Given the description of an element on the screen output the (x, y) to click on. 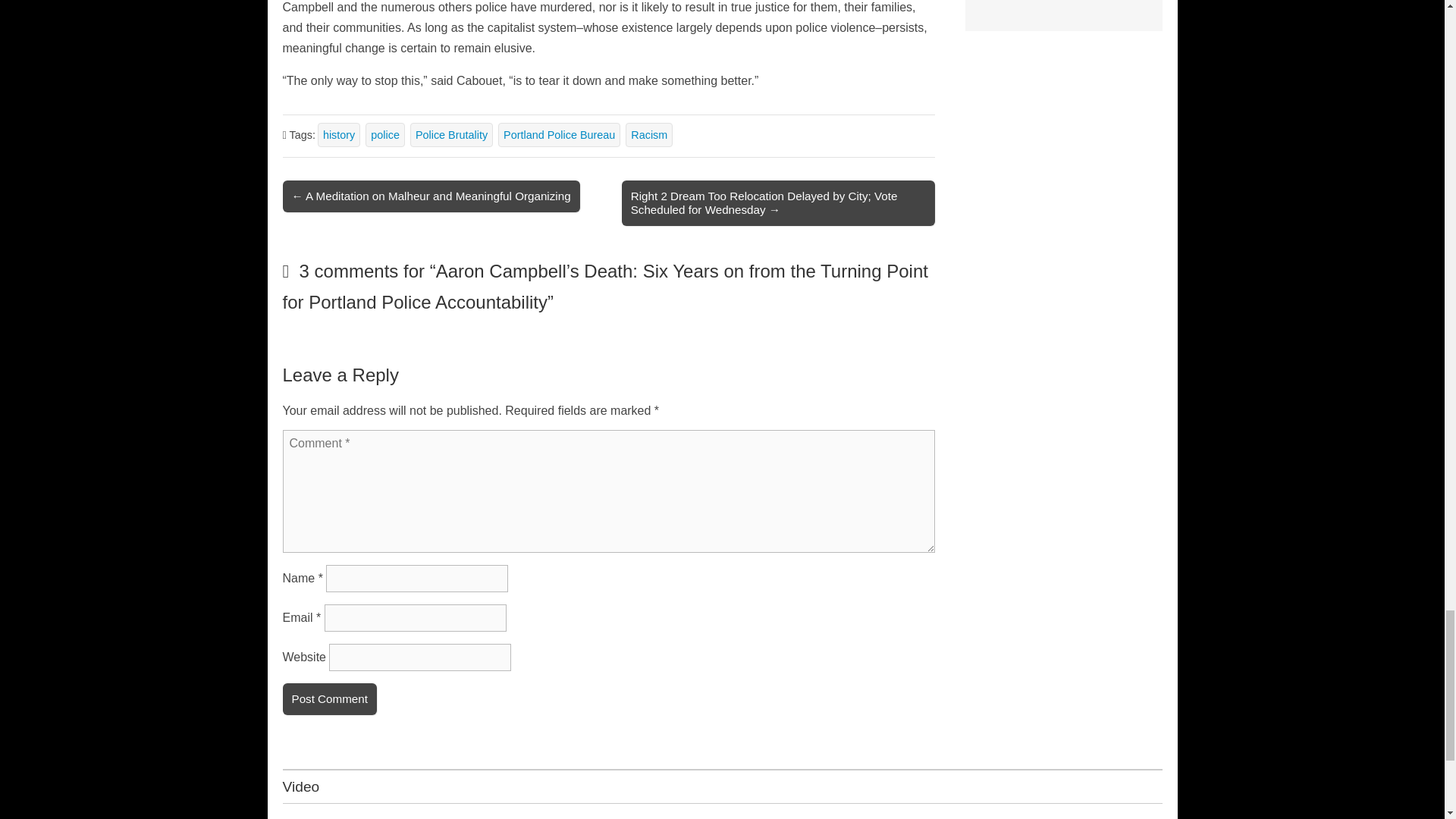
Post Comment (328, 698)
Post Comment (328, 698)
history (338, 134)
Portland Police Bureau (558, 134)
Racism (649, 134)
police (384, 134)
Police Brutality (451, 134)
